Given the description of an element on the screen output the (x, y) to click on. 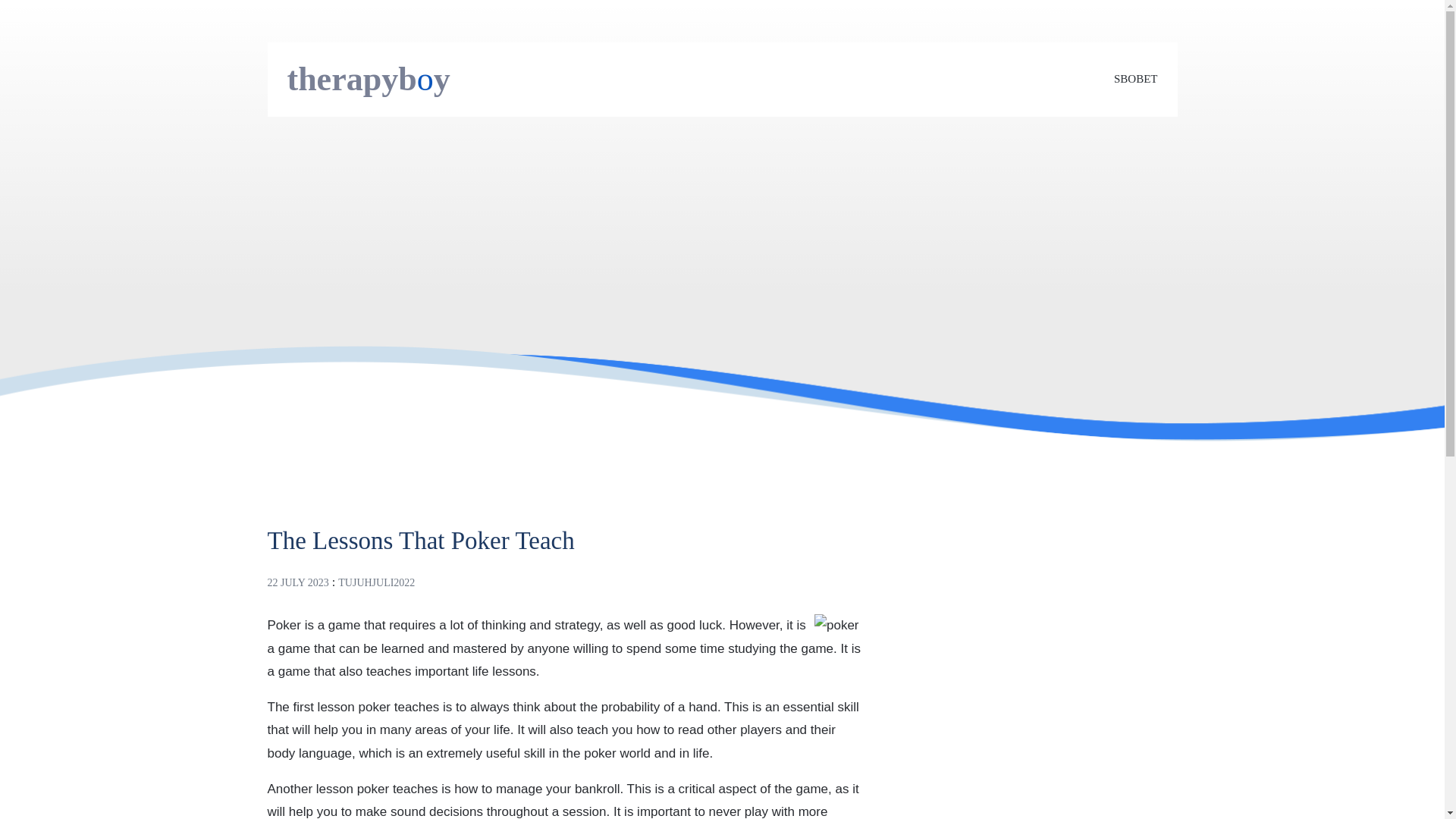
22 JULY 2023 (297, 582)
TUJUHJULI2022 (375, 582)
therapyboy (367, 78)
SBOBET (1135, 78)
